Given the description of an element on the screen output the (x, y) to click on. 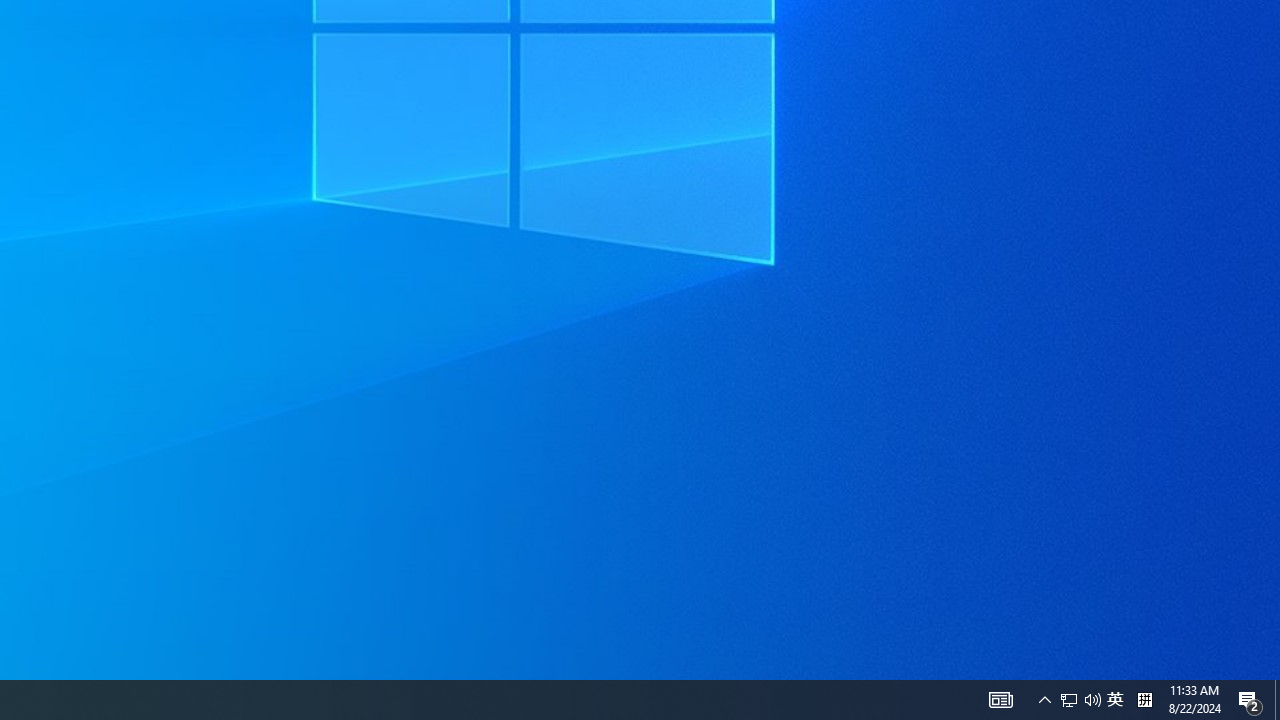
Notification Chevron (1115, 699)
Q2790: 100% (1044, 699)
User Promoted Notification Area (1092, 699)
AutomationID: 4105 (1080, 699)
Action Center, 2 new notifications (1000, 699)
Show desktop (1250, 699)
Tray Input Indicator - Chinese (Simplified, China) (1277, 699)
